Given the description of an element on the screen output the (x, y) to click on. 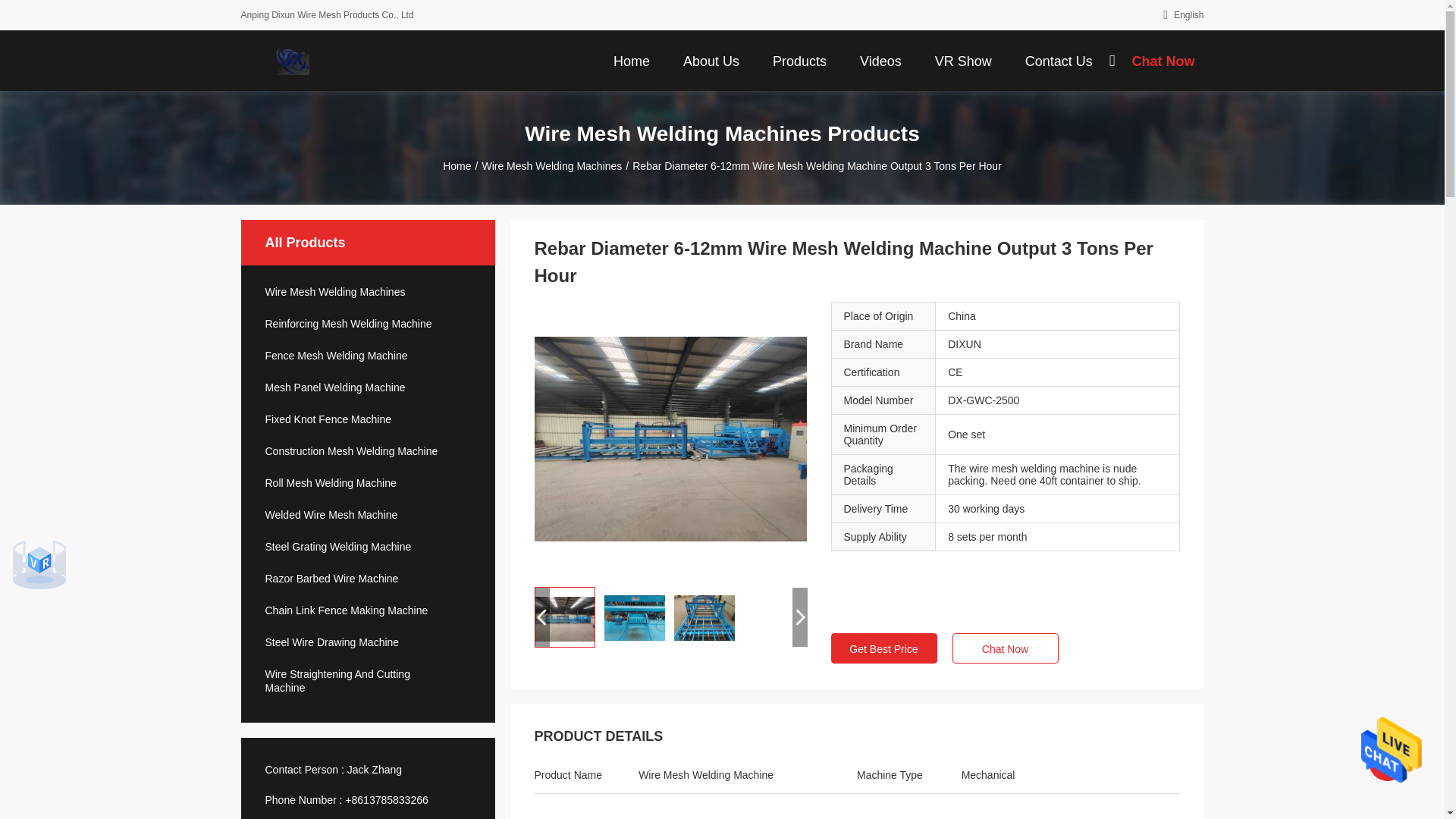
Home (631, 60)
About Us (711, 60)
Products (798, 60)
